Given the description of an element on the screen output the (x, y) to click on. 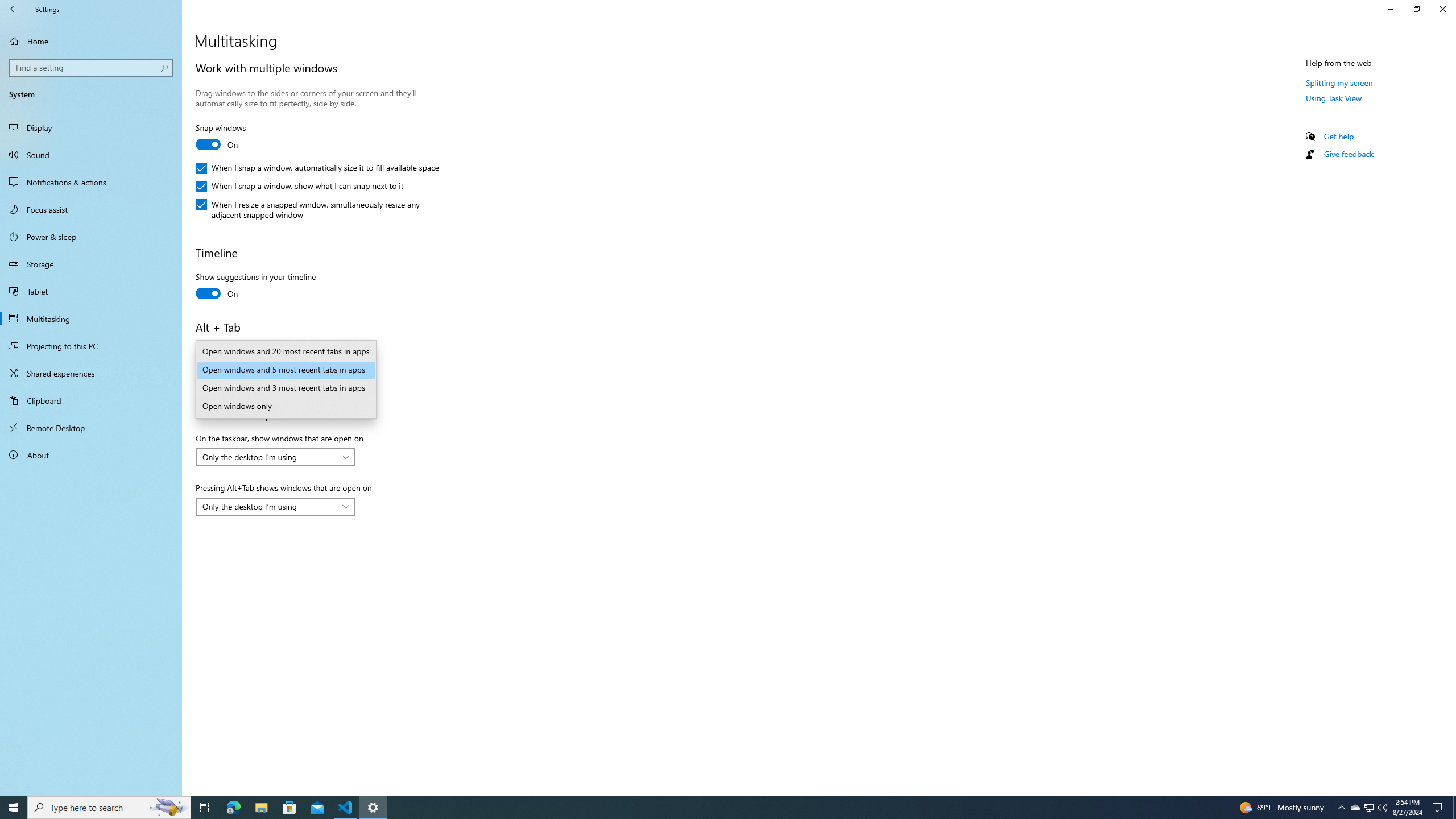
On the taskbar, show windows that are open on (275, 456)
Storage (91, 263)
Show desktop (1454, 807)
Shared experiences (91, 372)
Snap windows (237, 137)
File Explorer (261, 807)
Search box, Find a setting (91, 67)
Pressing Alt+Tab shows windows that are open on (275, 506)
User Promoted Notification Area (1368, 807)
Open windows and 5 most recent tabs in apps (285, 370)
Projecting to this PC (91, 345)
Give feedback (1348, 153)
Focus assist (91, 208)
Clipboard (91, 400)
